Given the description of an element on the screen output the (x, y) to click on. 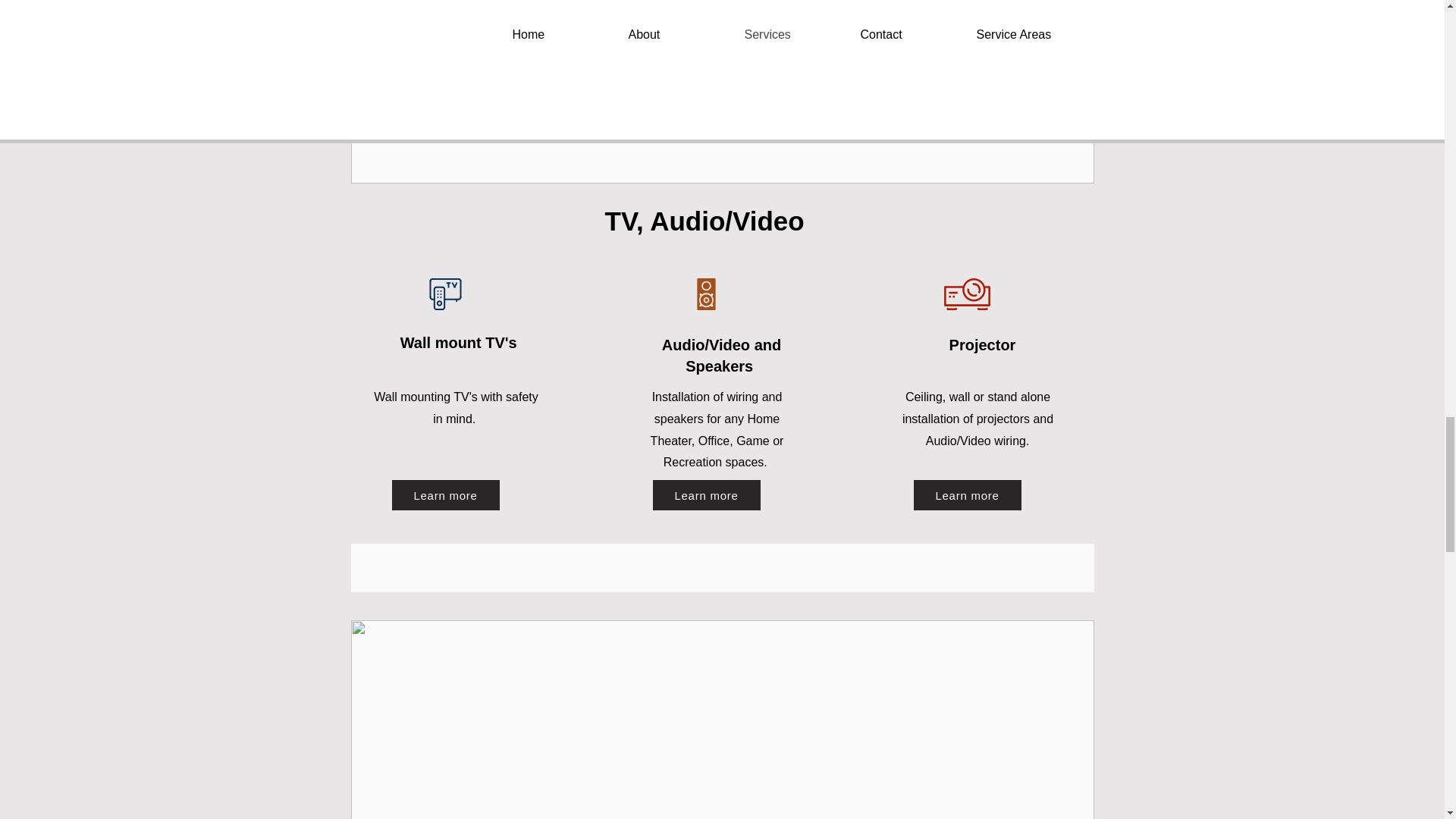
Learn more (706, 494)
Learn more (445, 494)
Learn more (966, 494)
